Given the description of an element on the screen output the (x, y) to click on. 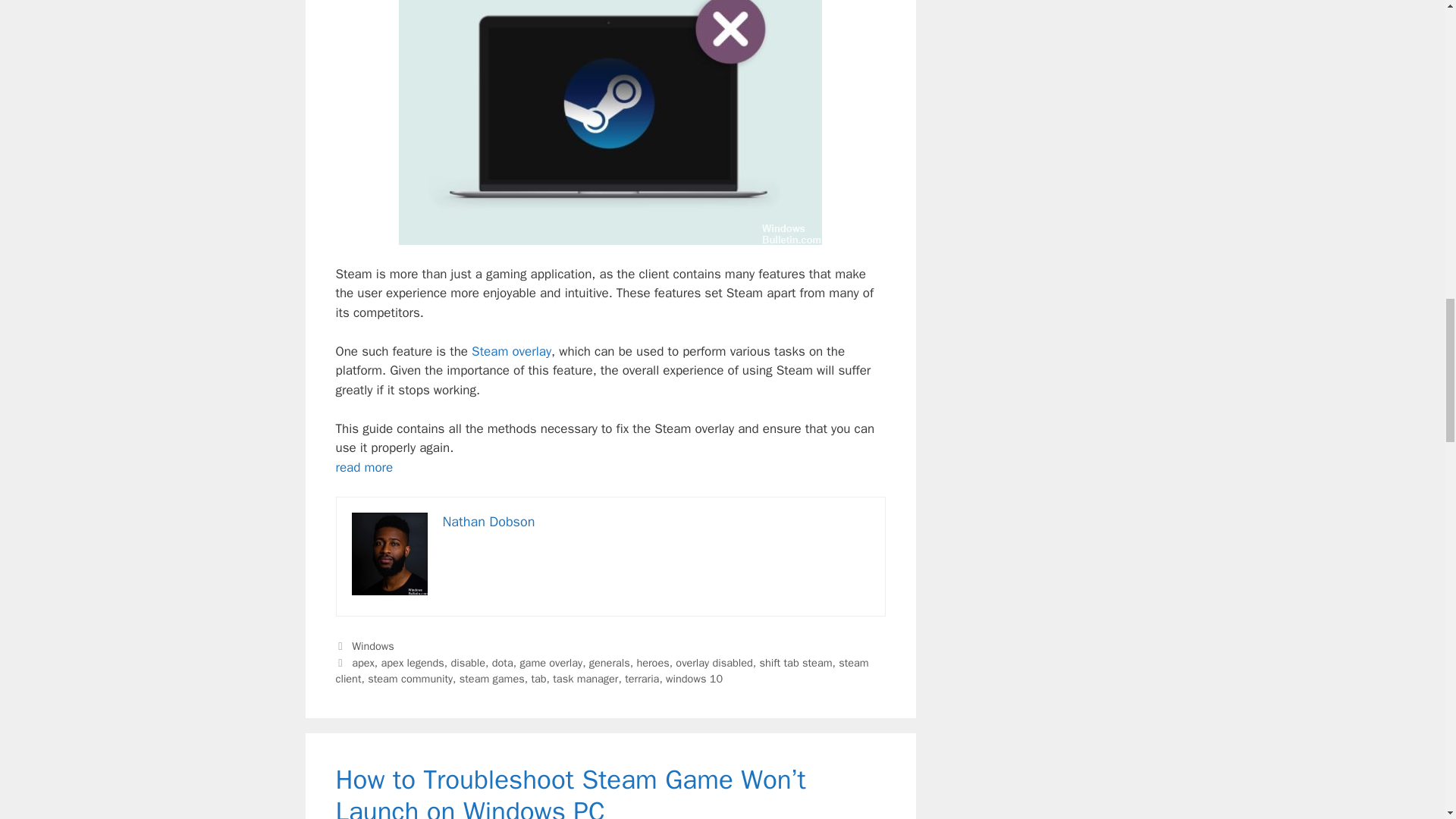
Steam overlay (511, 351)
disable (468, 662)
apex (363, 662)
Nathan Dobson (488, 521)
Windows (373, 645)
apex legends (412, 662)
dota (502, 662)
read more (363, 467)
